Given the description of an element on the screen output the (x, y) to click on. 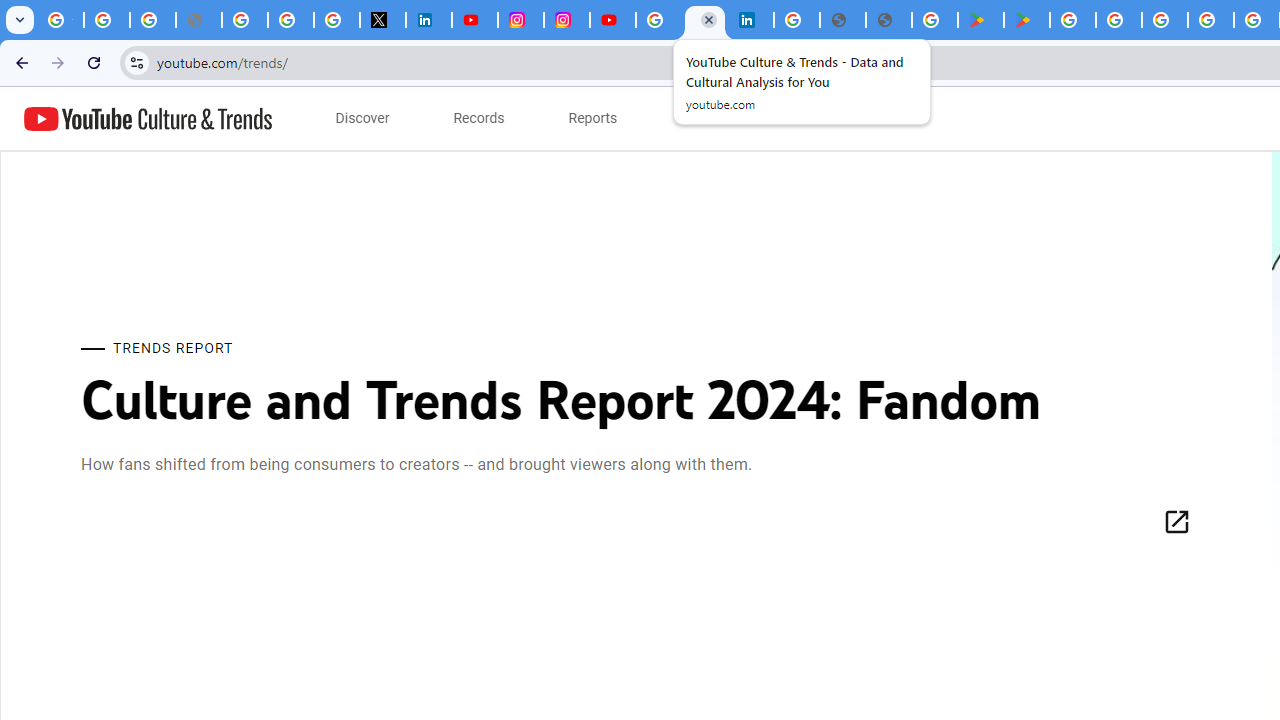
Android Apps on Google Play (980, 20)
subnav-Reports menupopup (593, 118)
User Details (889, 20)
Sign in - Google Accounts (290, 20)
subnav-Discover menupopup (362, 118)
PAW Patrol Rescue World - Apps on Google Play (1026, 20)
subnav-Records menupopup (479, 118)
